Given the description of an element on the screen output the (x, y) to click on. 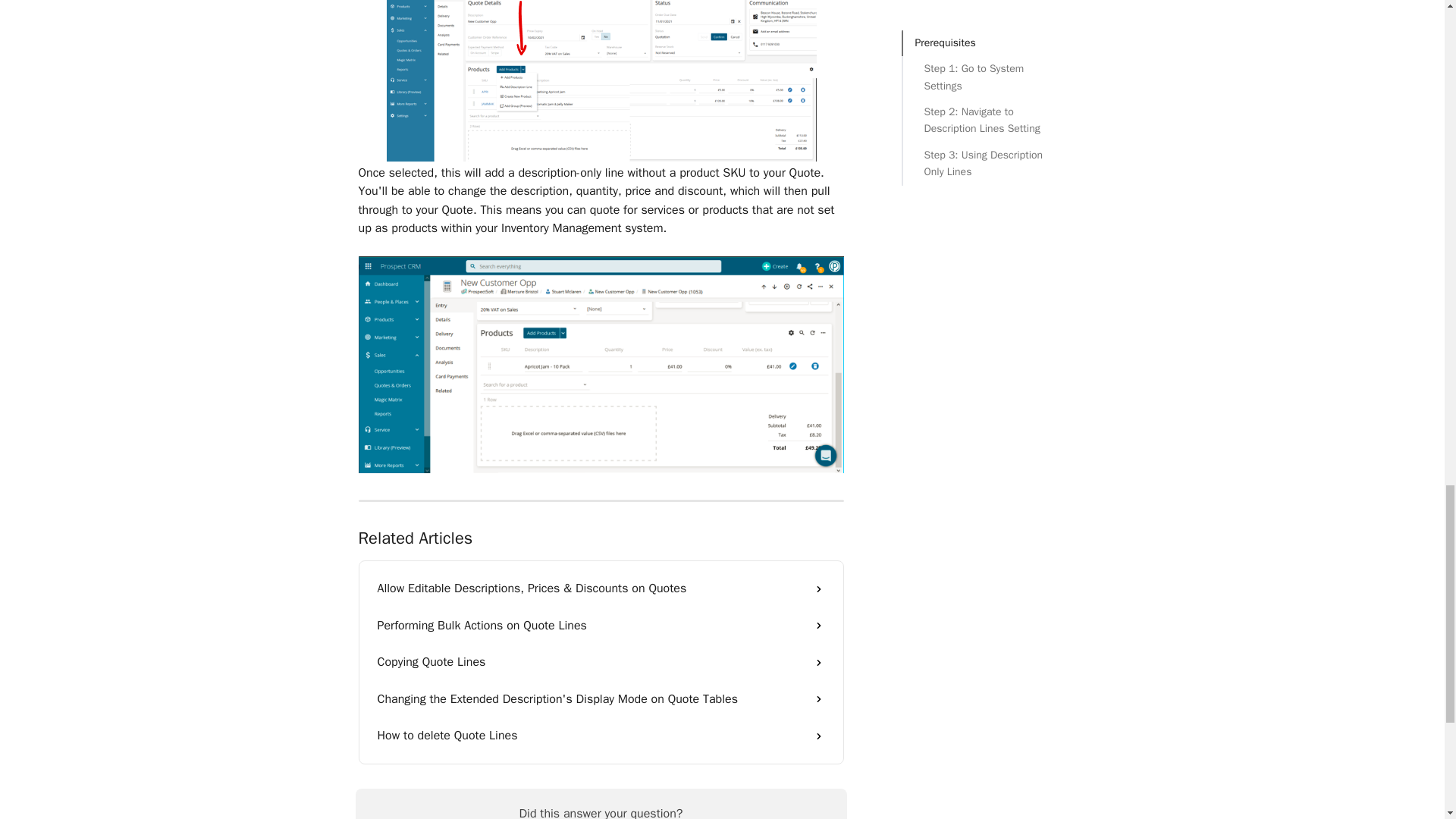
Copying Quote Lines (601, 661)
How to delete Quote Lines (601, 735)
Performing Bulk Actions on Quote Lines (601, 625)
